Given the description of an element on the screen output the (x, y) to click on. 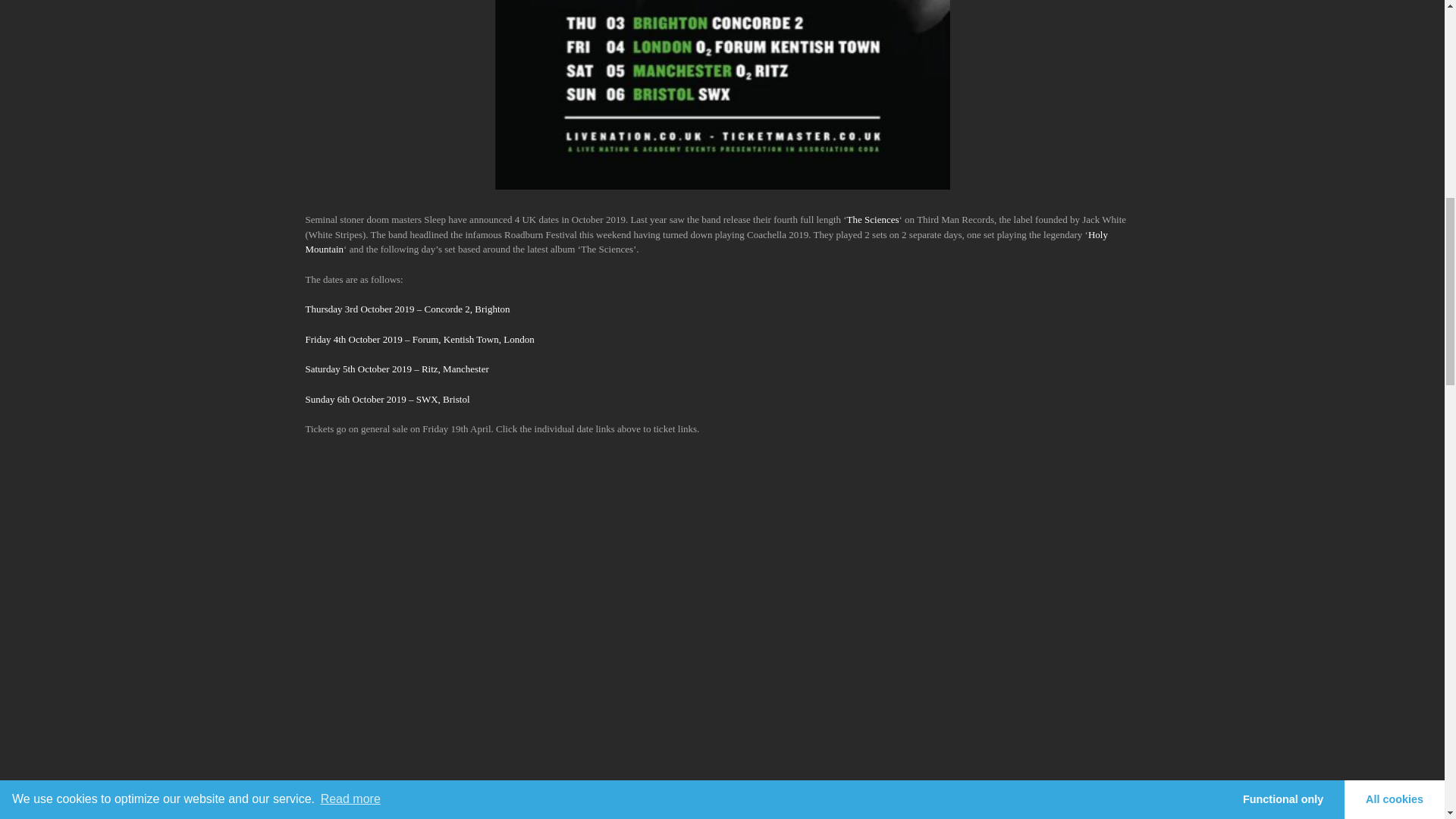
View Larger Image (722, 94)
The Sciences (873, 219)
Holy Mountain (705, 242)
